Given the description of an element on the screen output the (x, y) to click on. 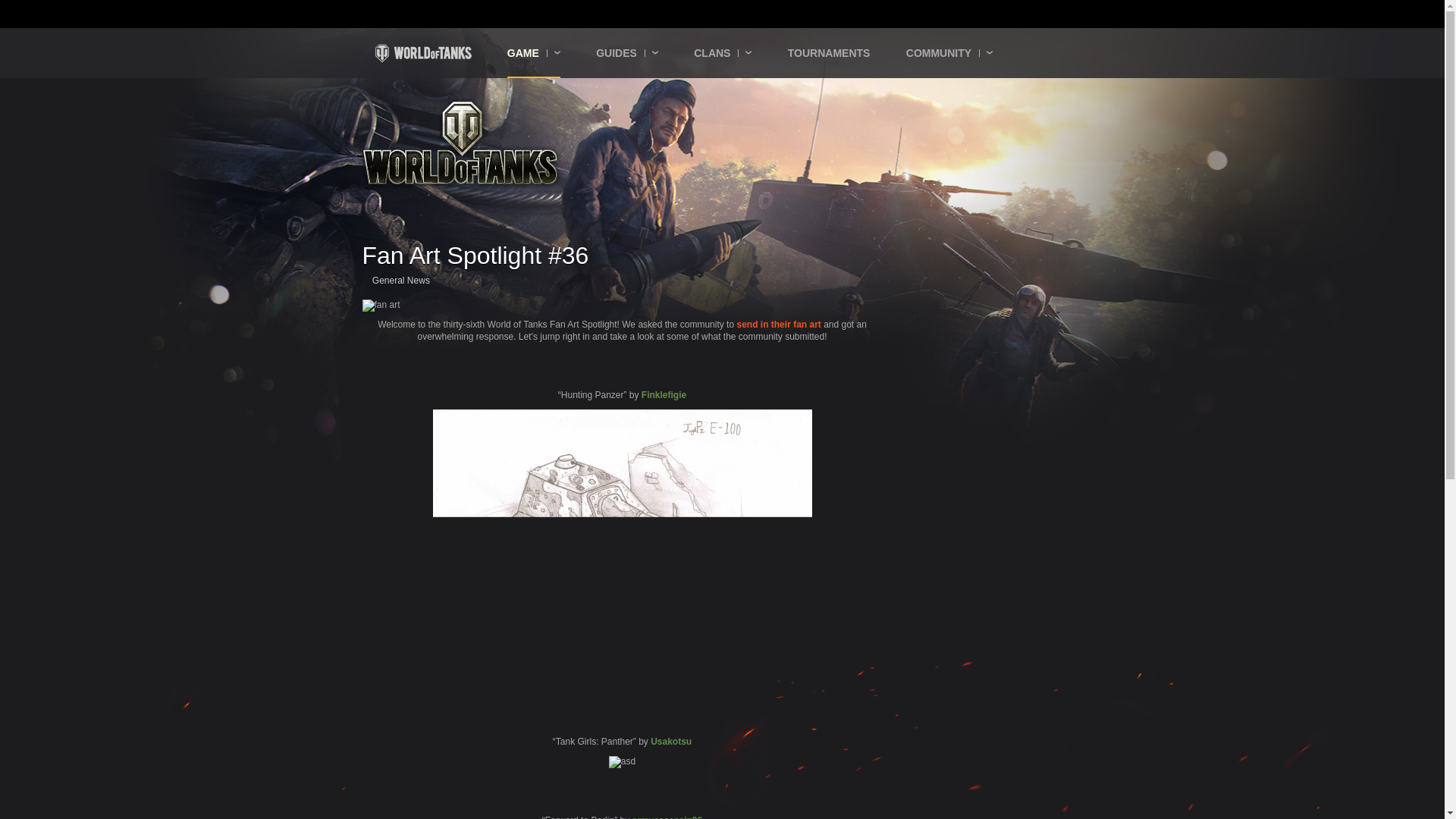
asdfa (621, 547)
CLANS (722, 52)
GUIDES (626, 52)
TOURNAMENTS (828, 52)
COMMUNITY (948, 52)
GAME (533, 52)
